Given the description of an element on the screen output the (x, y) to click on. 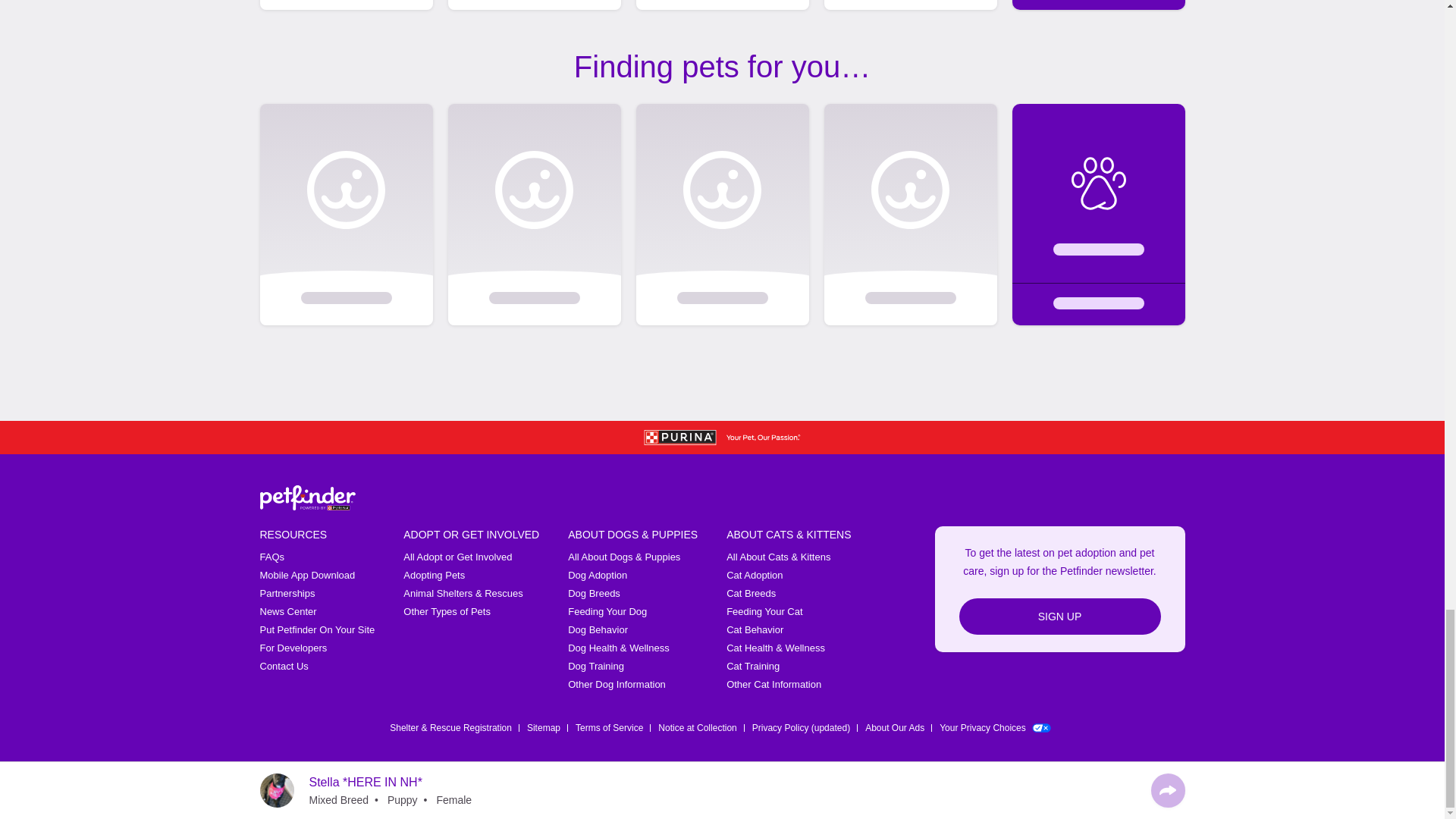
Facebook (1018, 791)
Instagram (1097, 791)
YouTube (1136, 791)
Twitter (1057, 791)
Petfinder Logo (307, 497)
Pinterest (1176, 791)
